Given the description of an element on the screen output the (x, y) to click on. 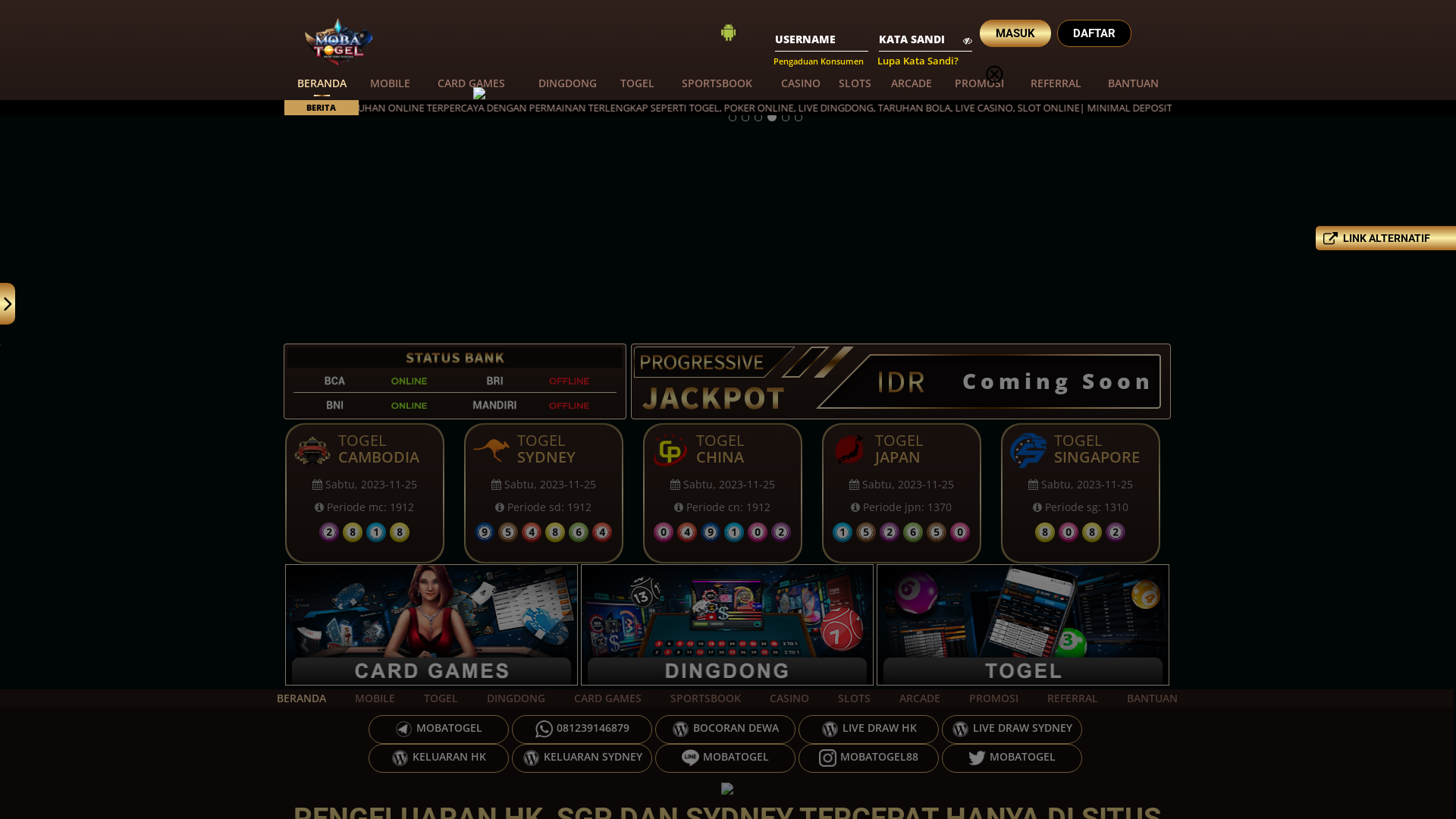
MOBILE Element type: text (389, 84)
ARCADE Element type: text (911, 84)
CARD GAMES Element type: text (471, 84)
CASINO Element type: text (789, 698)
Pengaduan Konsumen Element type: text (818, 60)
PROMOSI Element type: text (979, 84)
TOGEL Element type: text (637, 84)
TOGEL
JAPAN
Sabtu, 2023-11-25
Periode jpn: 1370 Element type: text (1080, 493)
DINGDONG Element type: text (567, 84)
ARCADE Element type: text (918, 698)
BANTUAN Element type: text (1151, 698)
TOGEL
CHINA
Sabtu, 2023-11-25
Periode cn: 1912 Element type: text (901, 493)
TOGEL
CAMBODIA
Sabtu, 2023-11-25
Periode mc: 1912 Element type: text (543, 493)
DINGDONG Element type: text (515, 698)
BERANDA Element type: text (300, 698)
BANTUAN Element type: text (1132, 84)
                       Element type: text (1120, 91)
PROMOSI Element type: text (992, 698)
MASUK Element type: text (1015, 33)
TOGEL
HONGKONG
Sabtu, 2023-11-25
Periode hk: 1831 Element type: text (364, 493)
CASINO Element type: text (800, 84)
REFERRAL Element type: text (1072, 698)
REFERRAL Element type: text (1055, 84)
DAFTAR Element type: text (1094, 32)
TOGEL
SYDNEY
Sabtu, 2023-11-25
Periode sd: 1912 Element type: text (722, 493)
Username Element type: hover (820, 37)
SPORTSBOOK Element type: text (704, 698)
SLOTS Element type: text (854, 84)
MOBILE Element type: text (374, 698)
CARD GAMES Element type: text (607, 698)
TOGEL Element type: text (440, 698)
Lupa Kata Sandi? Element type: text (917, 60)
BERANDA Element type: text (321, 84)
SPORTSBOOK Element type: text (716, 84)
SLOTS Element type: text (854, 698)
DAFTAR Element type: text (1094, 33)
